Given the description of an element on the screen output the (x, y) to click on. 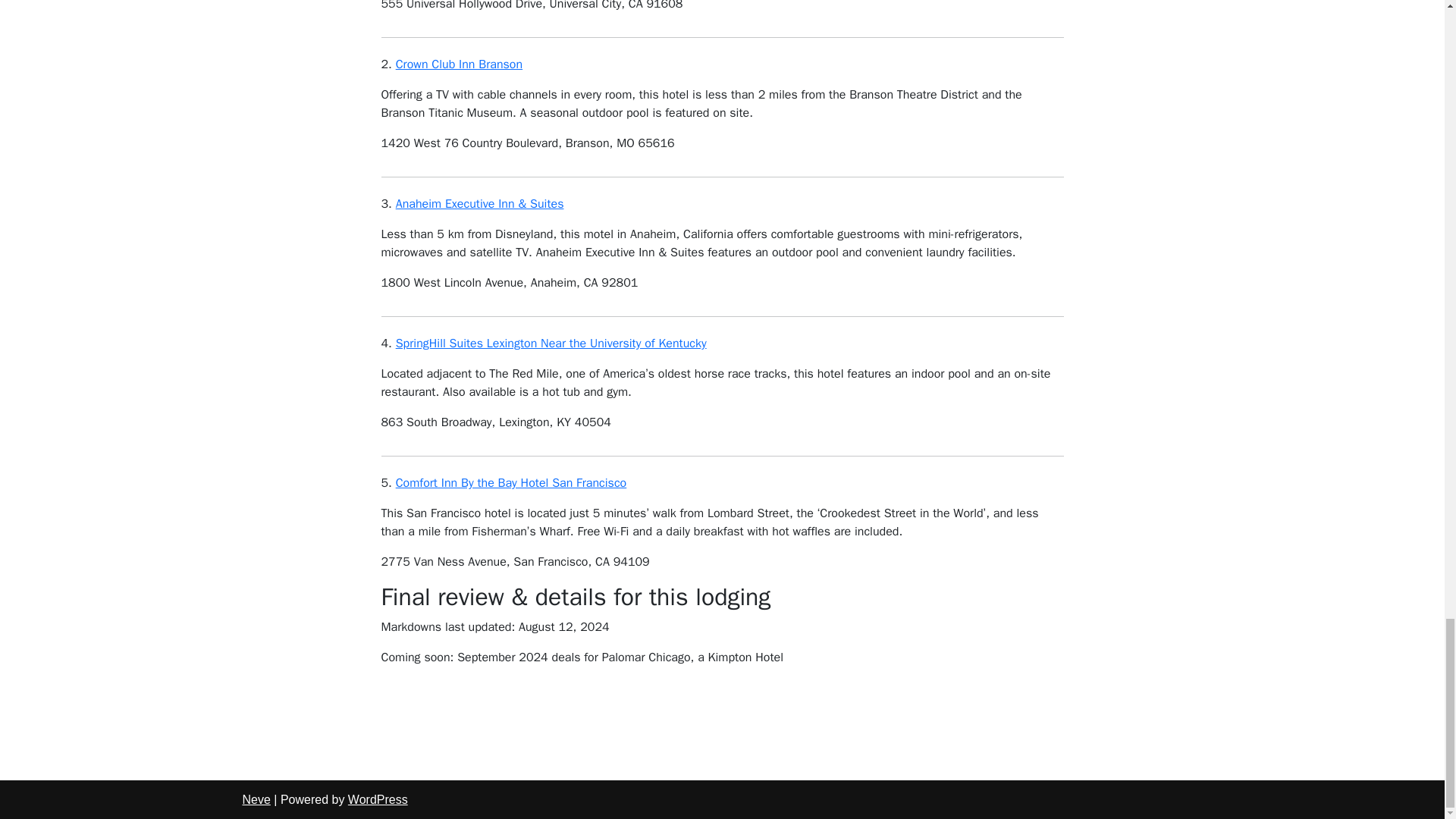
WordPress (377, 799)
Crown Club Inn Branson (459, 64)
Neve (256, 799)
Comfort Inn By the Bay Hotel San Francisco (511, 482)
SpringHill Suites Lexington Near the University of Kentucky (551, 343)
